Given the description of an element on the screen output the (x, y) to click on. 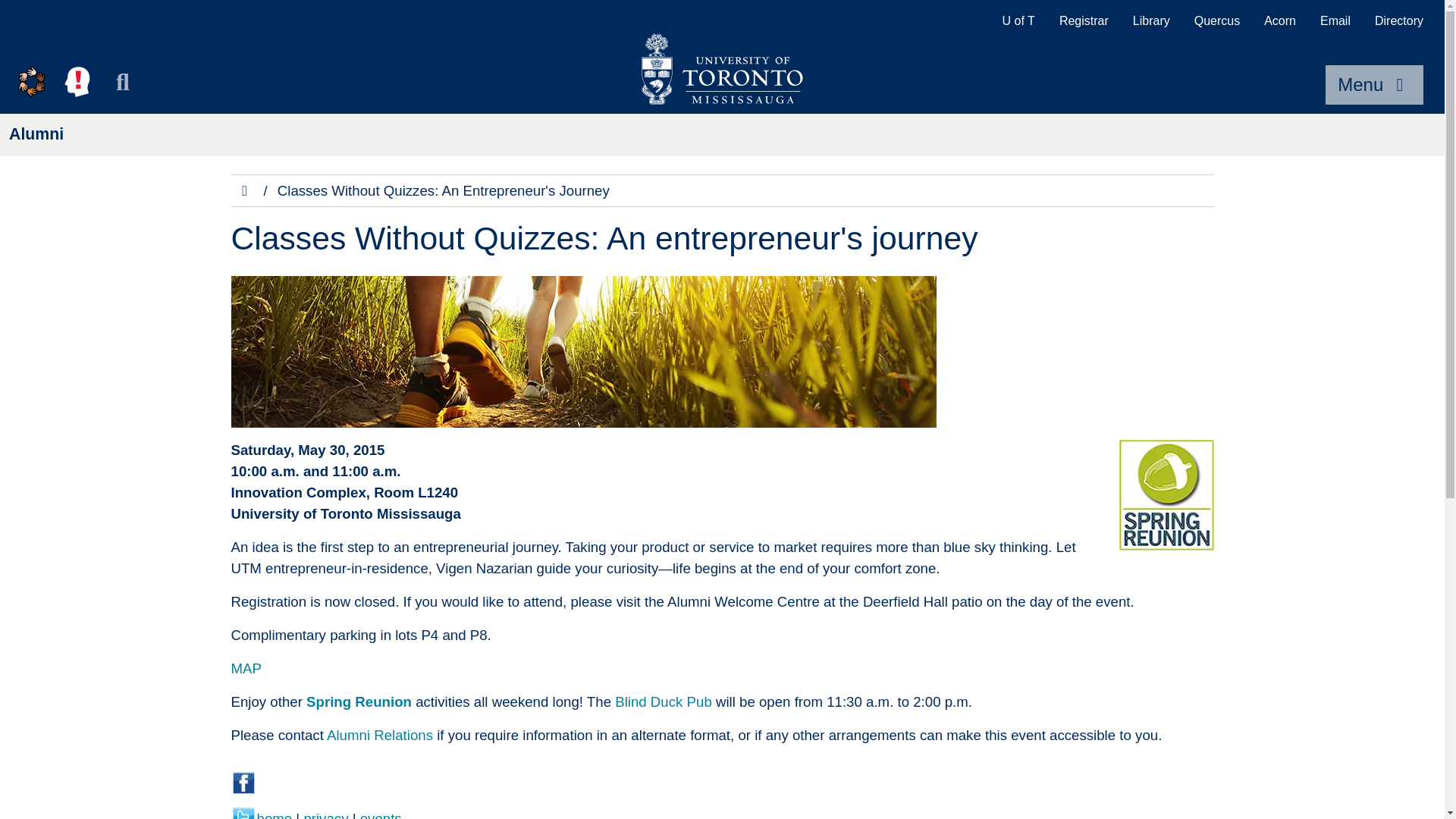
Directory (1398, 21)
Search (122, 81)
Email (1334, 21)
Menu (1373, 84)
Alumni (36, 134)
Registrar (1083, 21)
menu (1373, 84)
Search (122, 81)
Acorn (1279, 21)
U of T (1018, 21)
Library (1151, 21)
Quercus (1217, 21)
